Given the description of an element on the screen output the (x, y) to click on. 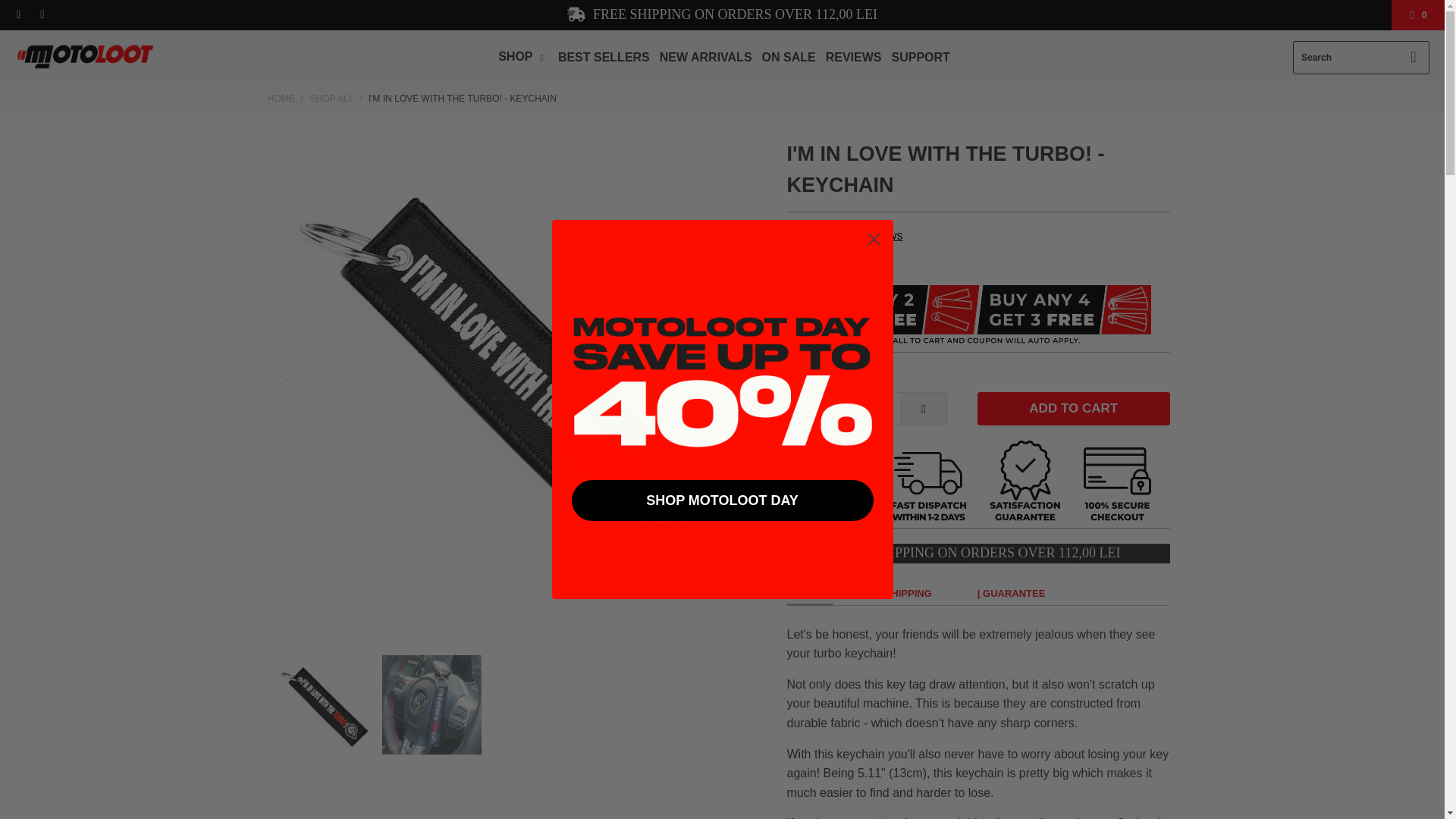
Shop All (331, 98)
Moto Loot on Instagram (41, 14)
Moto Loot (84, 57)
1 (866, 408)
Moto Loot (280, 98)
Moto Loot on Facebook (17, 14)
